Given the description of an element on the screen output the (x, y) to click on. 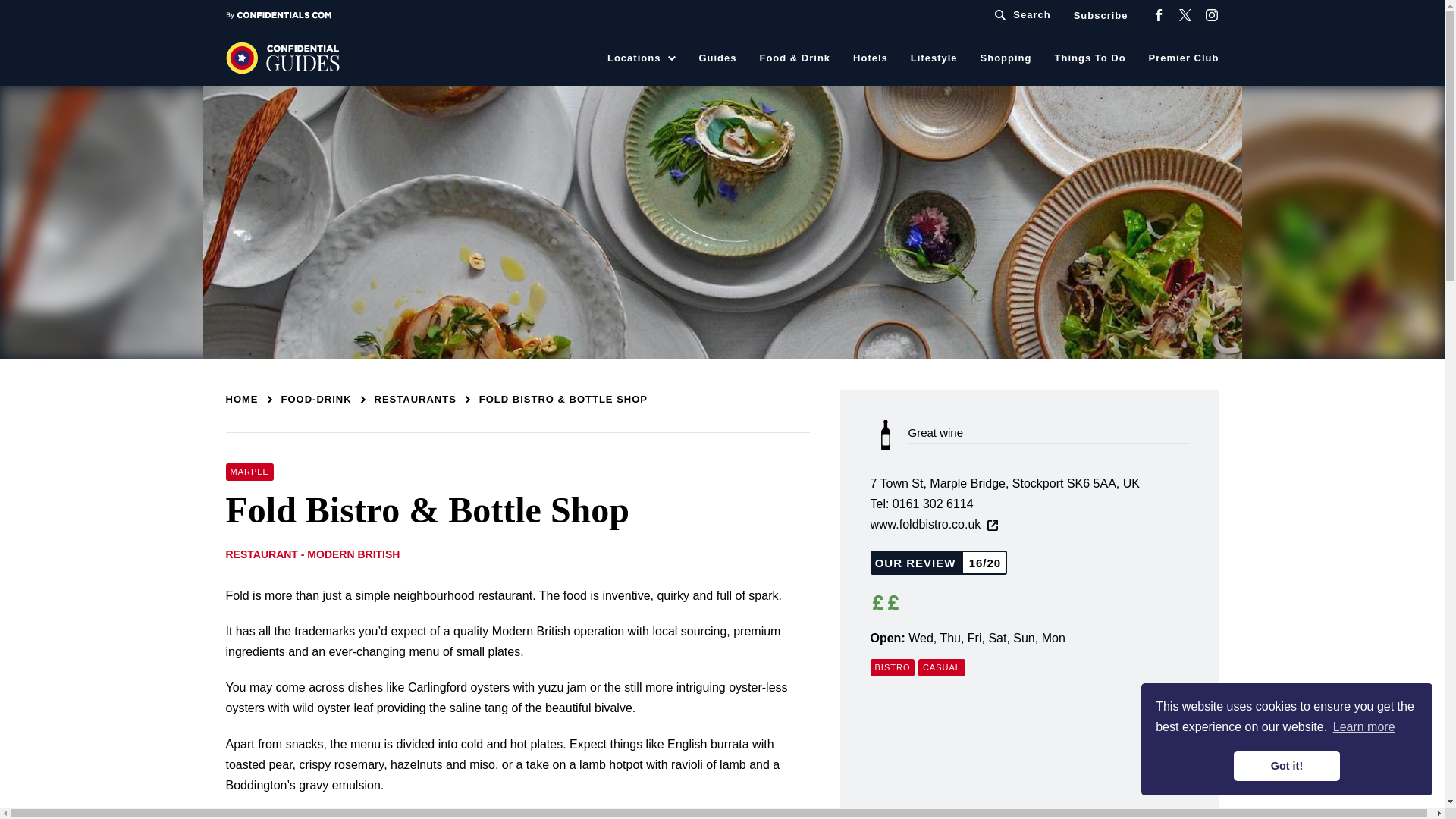
Learn more (1363, 726)
Got it! (1286, 766)
